Given the description of an element on the screen output the (x, y) to click on. 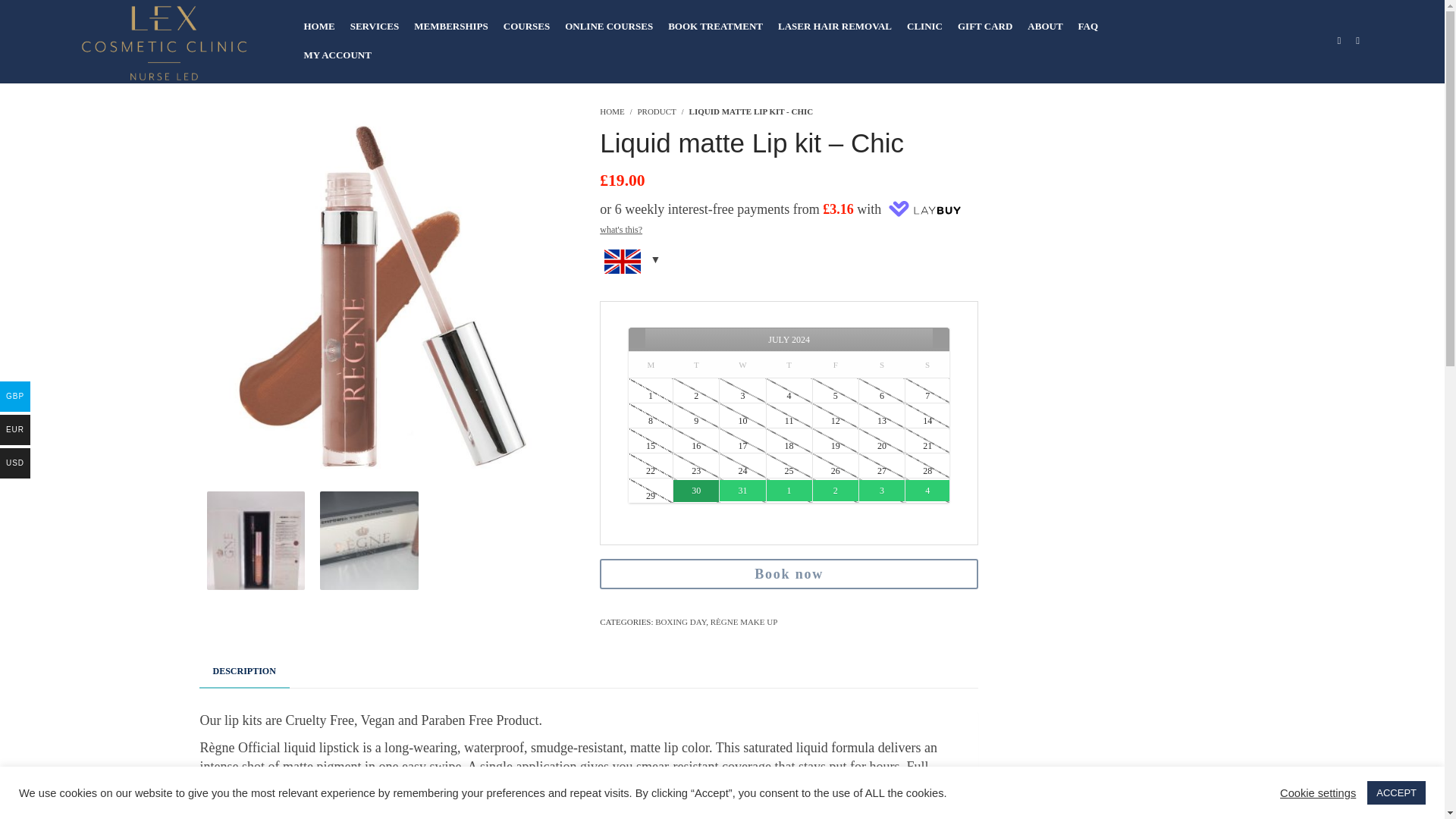
Liquid matte Lip kit - Chic 2 (255, 540)
Please select your currency (788, 265)
Liquid matte Lip kit - Chic 3 (369, 540)
Log In (83, 165)
